Given the description of an element on the screen output the (x, y) to click on. 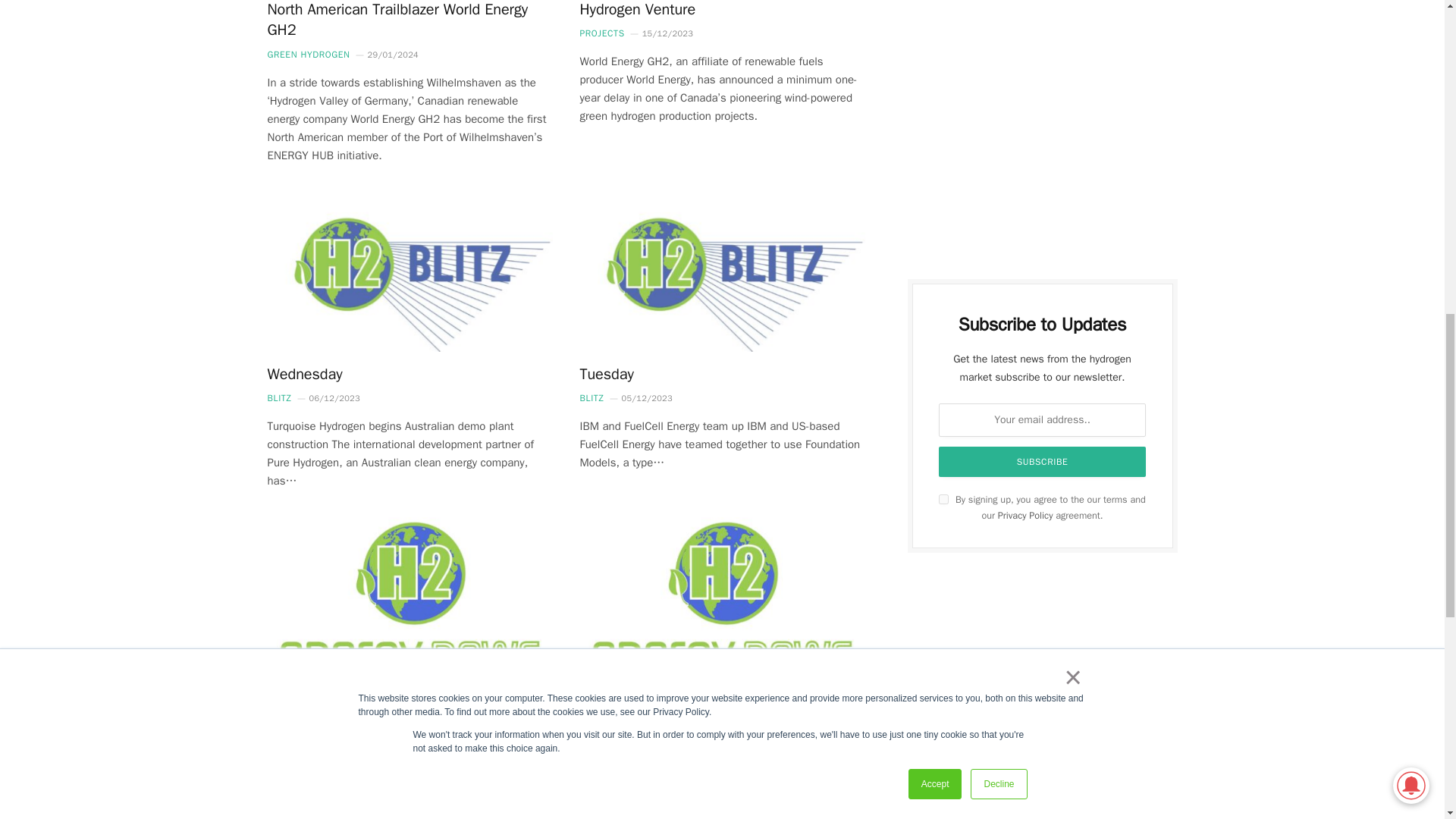
Wednesday (408, 271)
on (944, 499)
Subscribe (1043, 461)
